Given the description of an element on the screen output the (x, y) to click on. 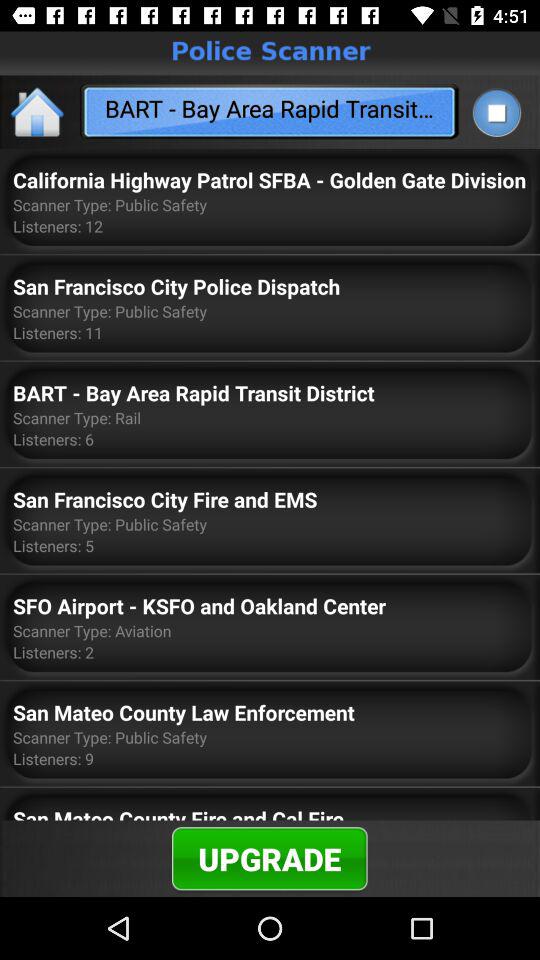
open upgrade icon (269, 858)
